Given the description of an element on the screen output the (x, y) to click on. 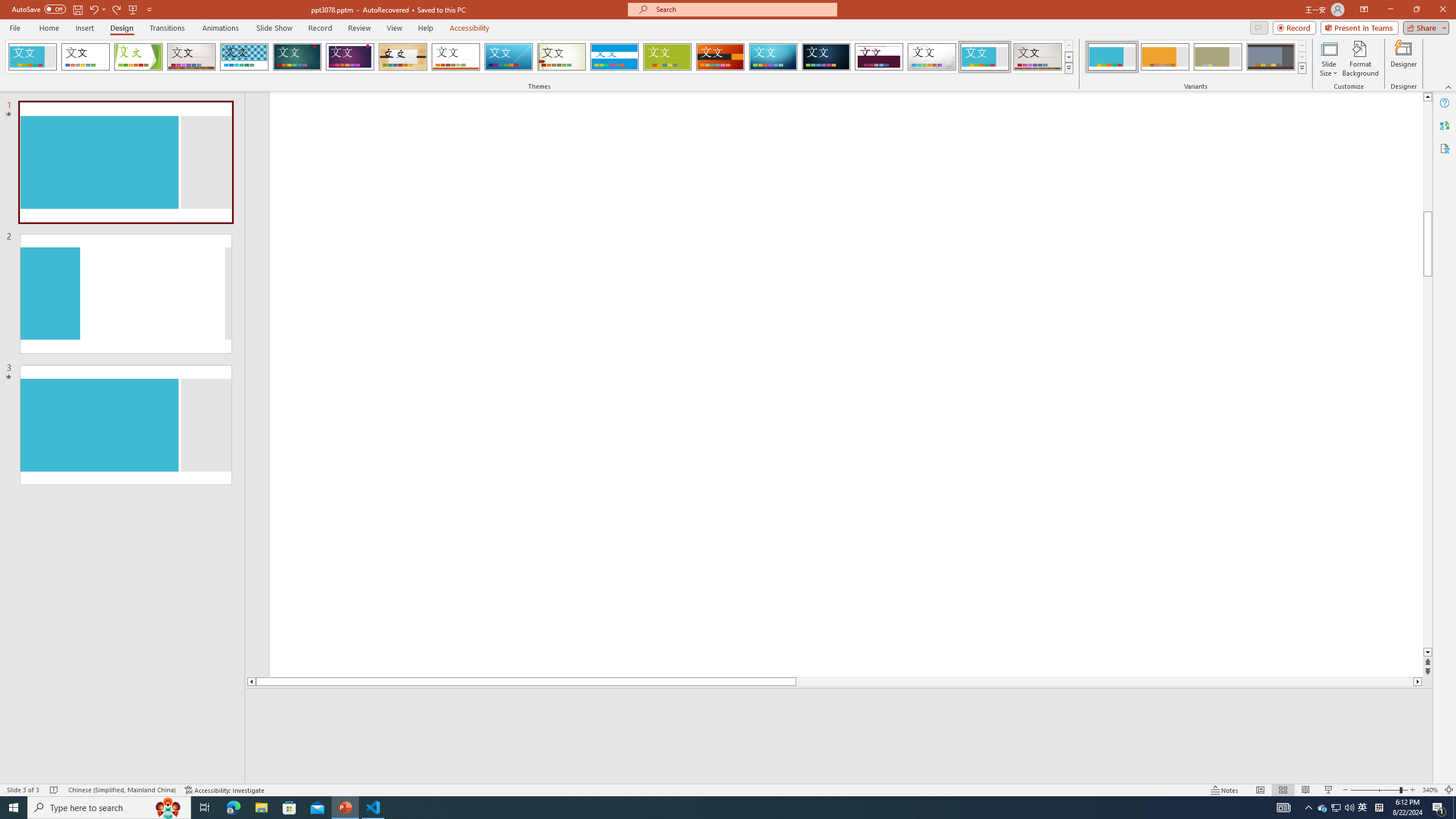
Office Theme (85, 56)
Retrospect (455, 56)
Droplet (931, 56)
Organic (403, 56)
Circuit (772, 56)
Zoom 340% (1430, 790)
